Given the description of an element on the screen output the (x, y) to click on. 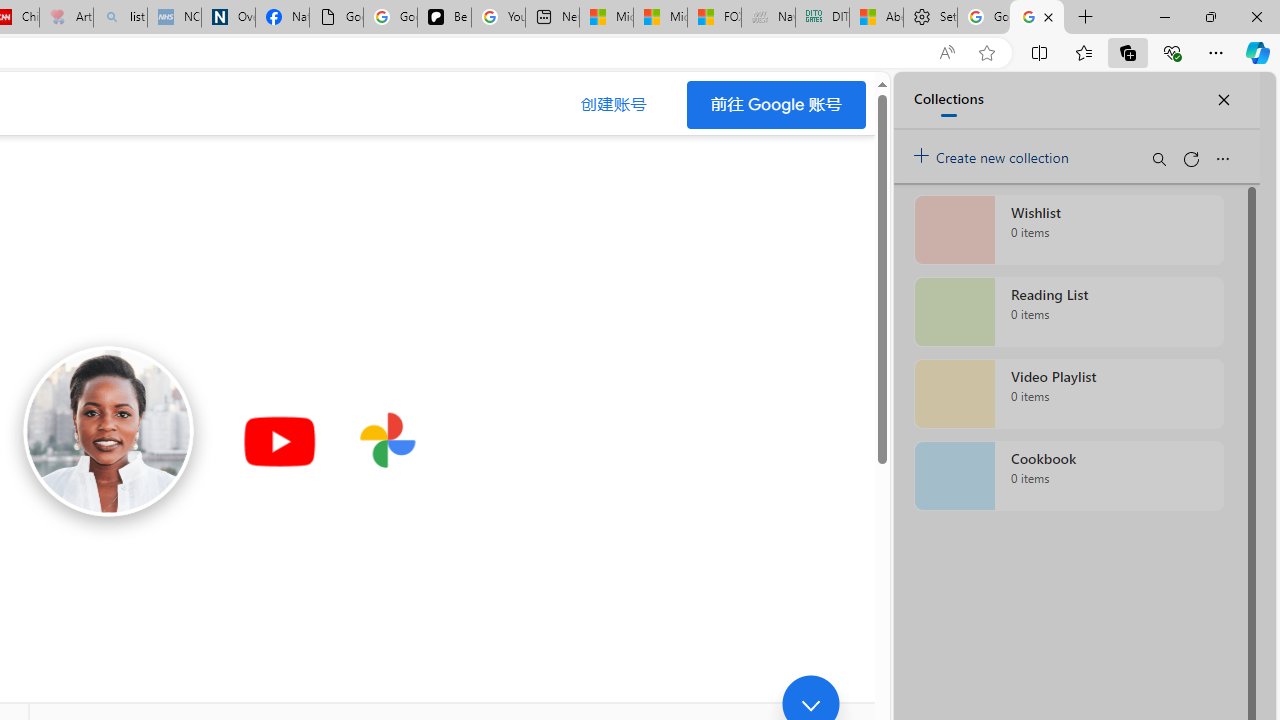
DITOGAMES AG Imprint (822, 17)
Google Analytics Opt-out Browser Add-on Download Page (336, 17)
Aberdeen, Hong Kong SAR hourly forecast | Microsoft Weather (875, 17)
Be Smart | creating Science videos | Patreon (444, 17)
